Given the description of an element on the screen output the (x, y) to click on. 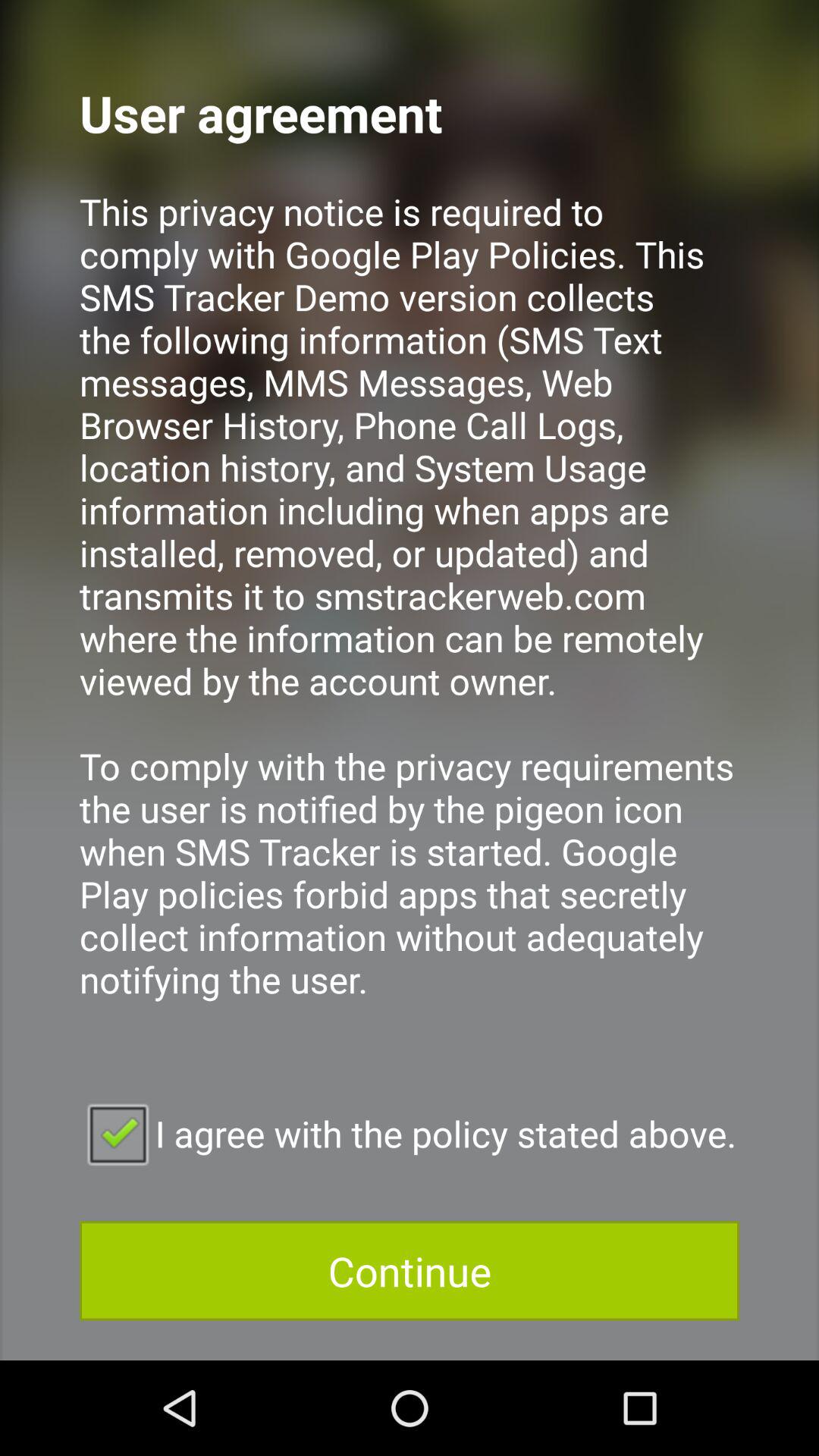
tap the continue item (409, 1270)
